Given the description of an element on the screen output the (x, y) to click on. 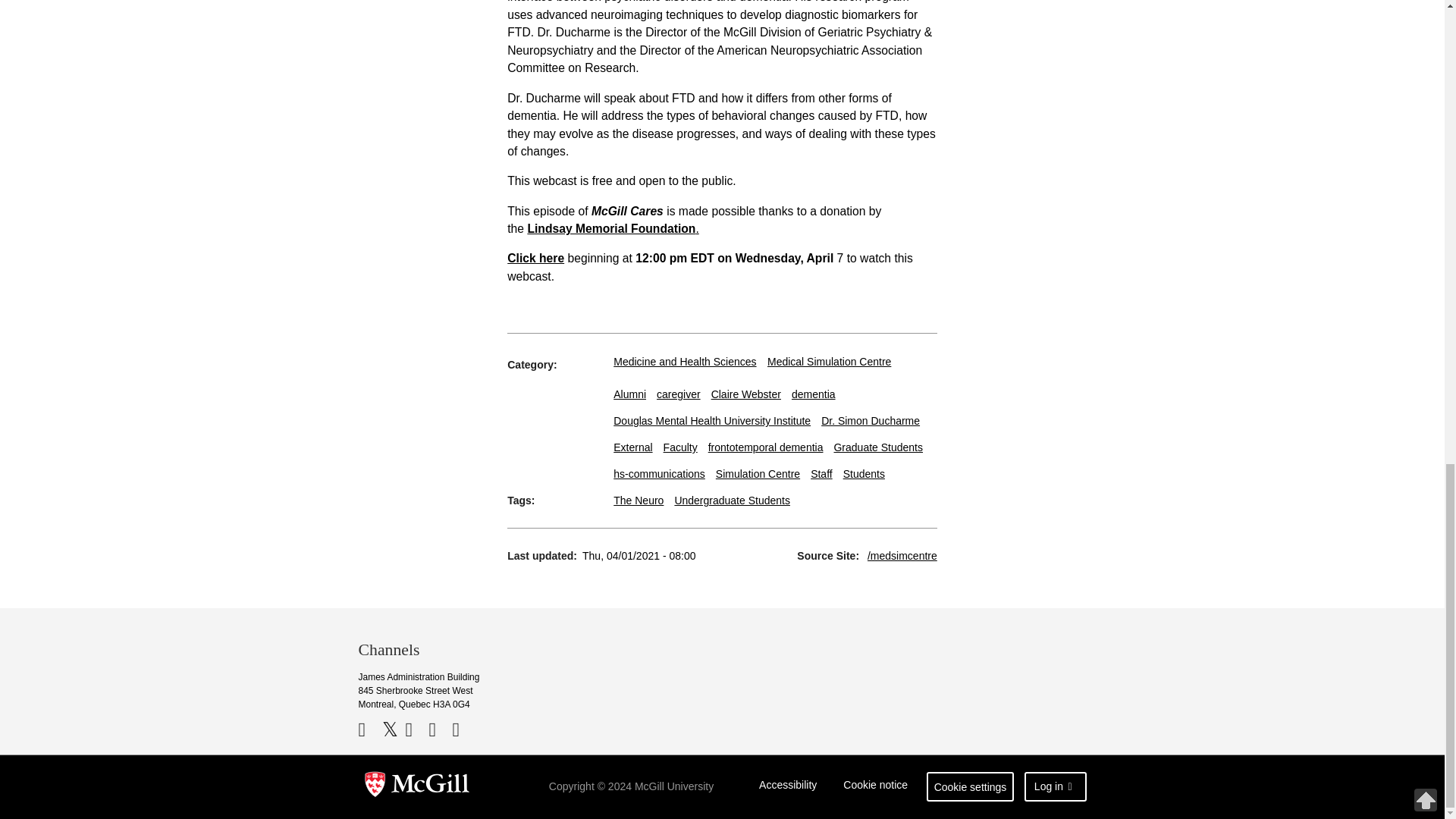
Alumni (629, 394)
The Neuro (637, 500)
X (392, 729)
Medical Simulation Centre (829, 361)
Instagram (461, 729)
Follow us on YouTube (414, 729)
Dr. Simon Ducharme (870, 420)
Follow us on Instagram (461, 729)
Click here (535, 257)
hs-communications (658, 473)
